Given the description of an element on the screen output the (x, y) to click on. 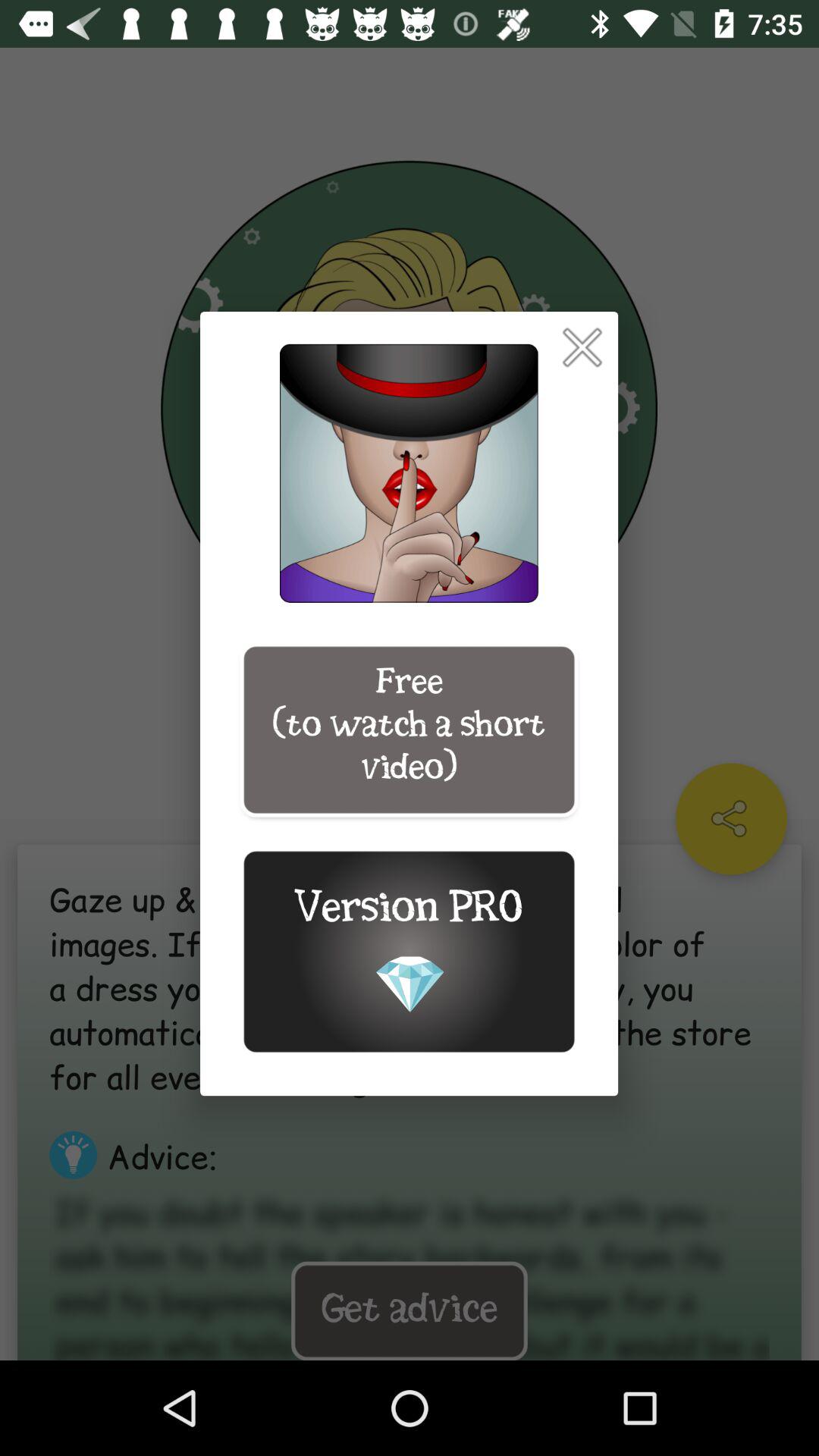
press item above free to watch (582, 347)
